Given the description of an element on the screen output the (x, y) to click on. 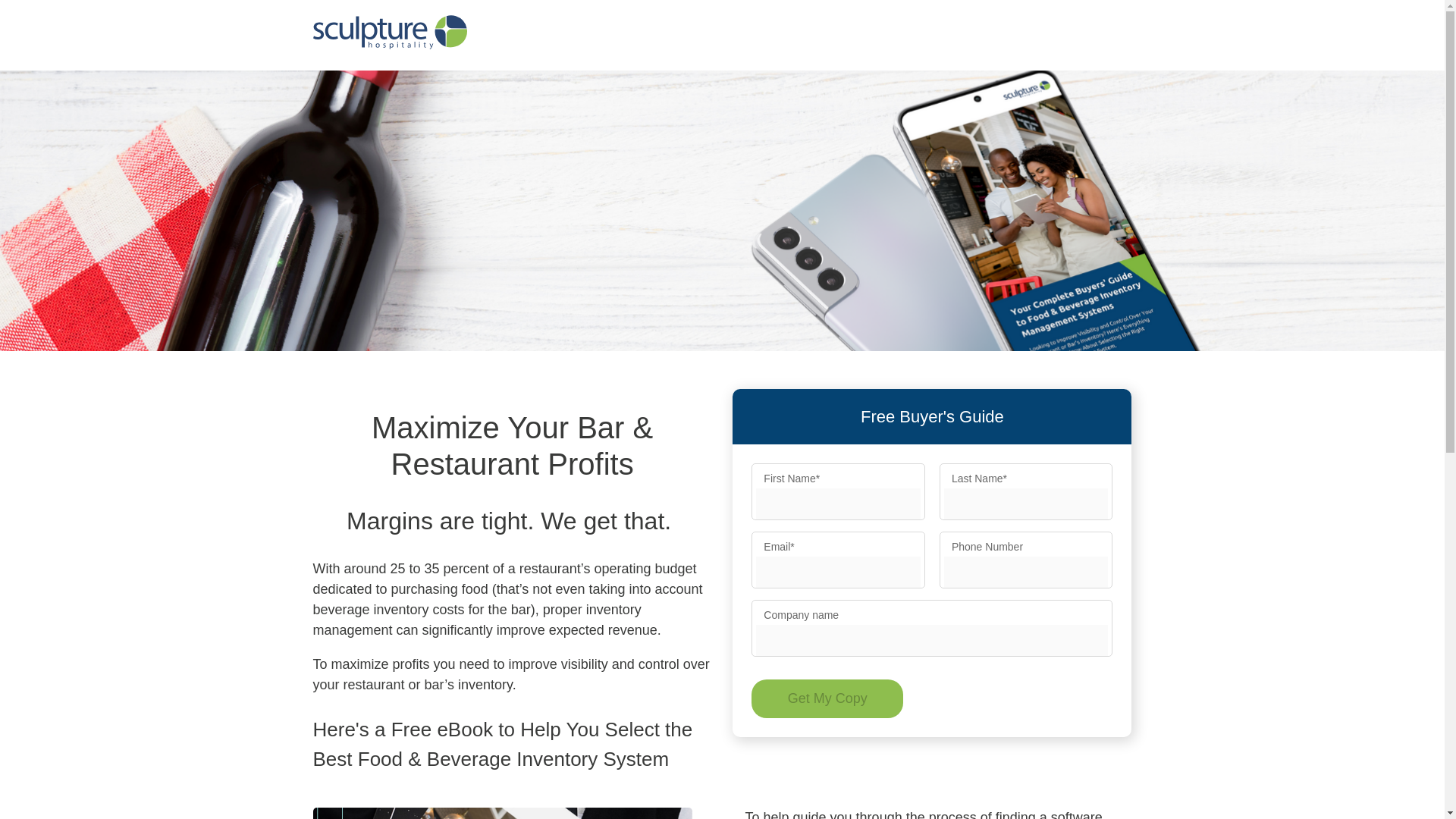
Get My Copy (826, 698)
Get My Copy (826, 698)
